Given the description of an element on the screen output the (x, y) to click on. 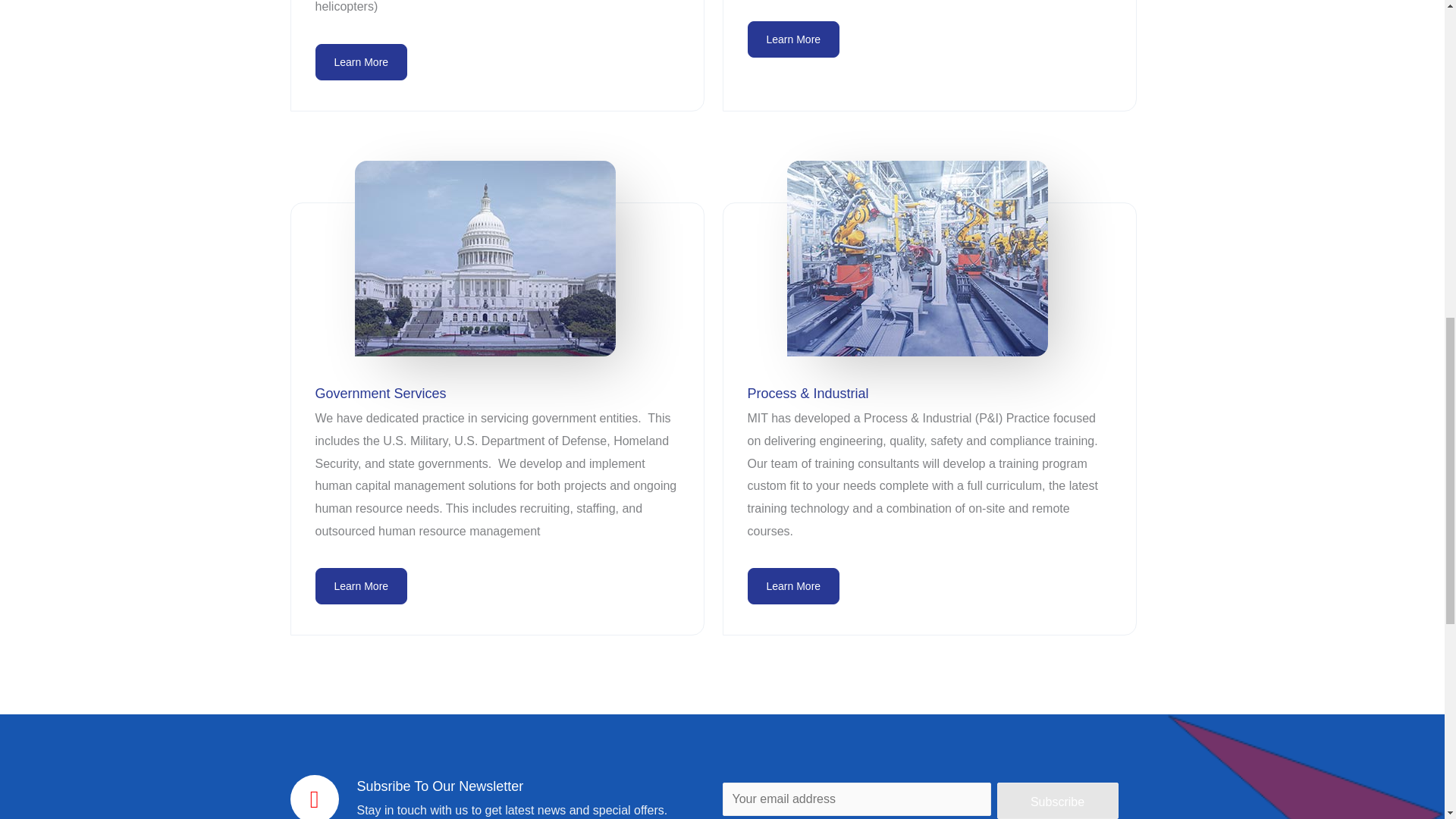
Learn More (794, 39)
Learn More (361, 62)
Learn More (794, 586)
Learn More (361, 586)
Subscribe (1056, 800)
